Given the description of an element on the screen output the (x, y) to click on. 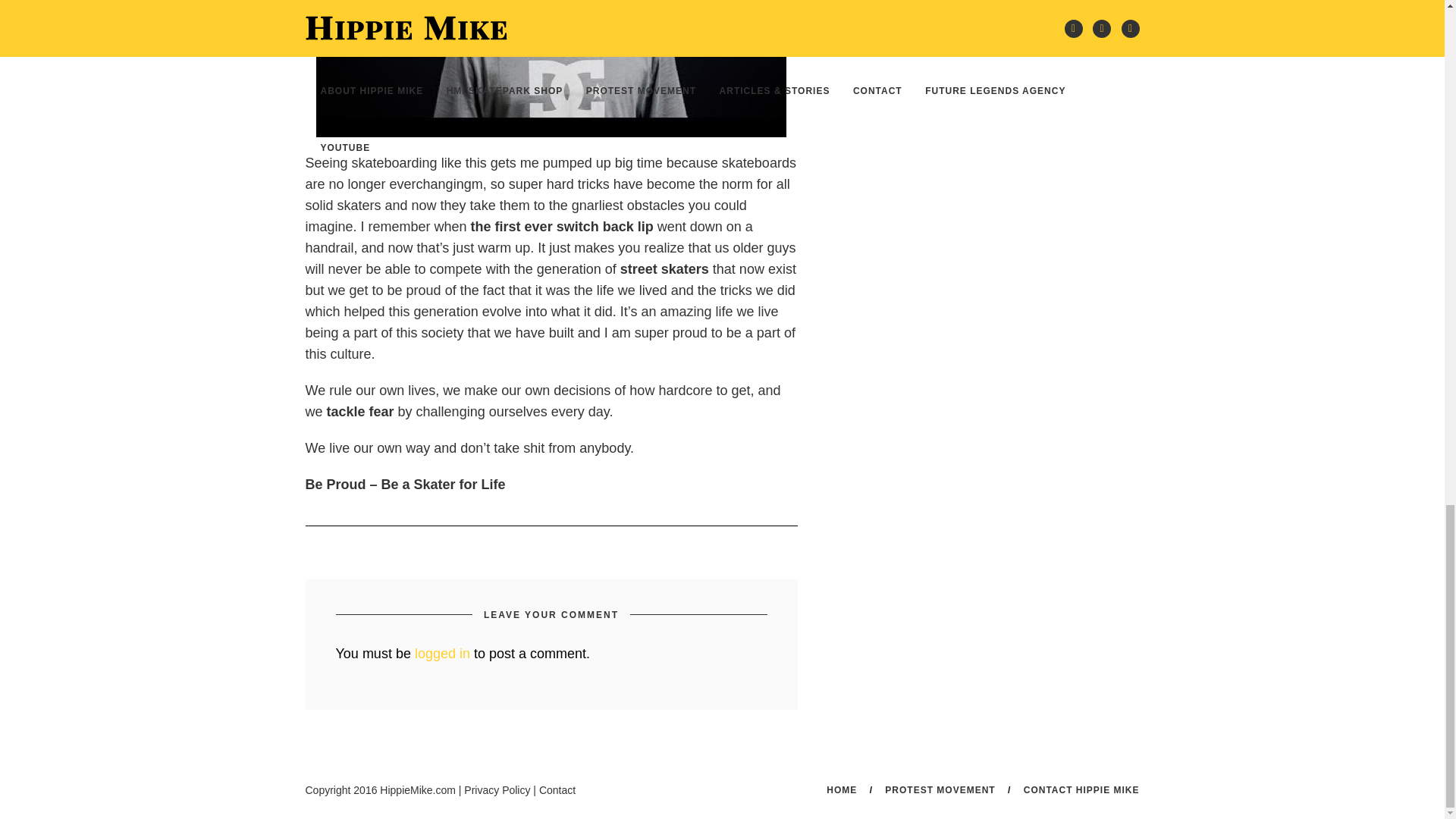
Contact (556, 789)
logged in (442, 653)
Privacy Policy (496, 789)
HOME (842, 789)
